Given the description of an element on the screen output the (x, y) to click on. 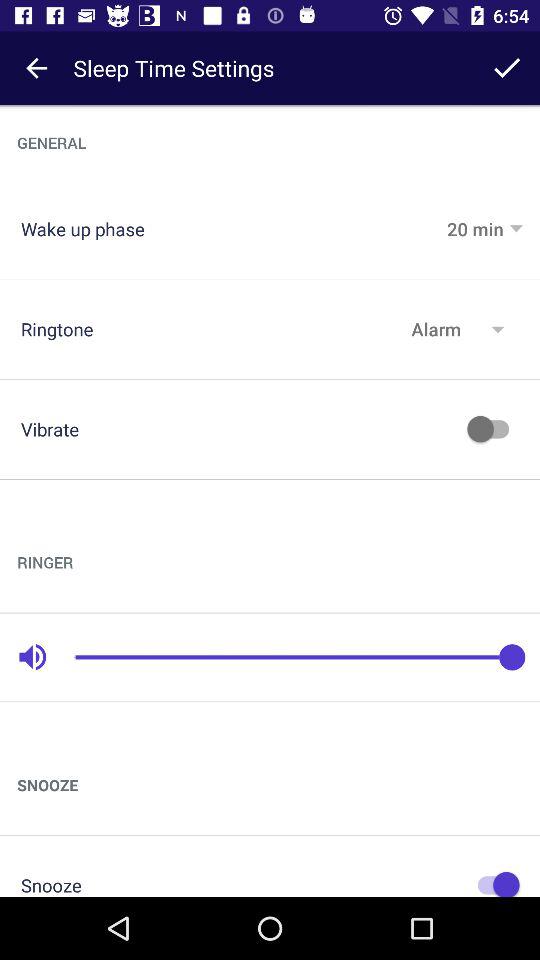
on button (493, 882)
